Given the description of an element on the screen output the (x, y) to click on. 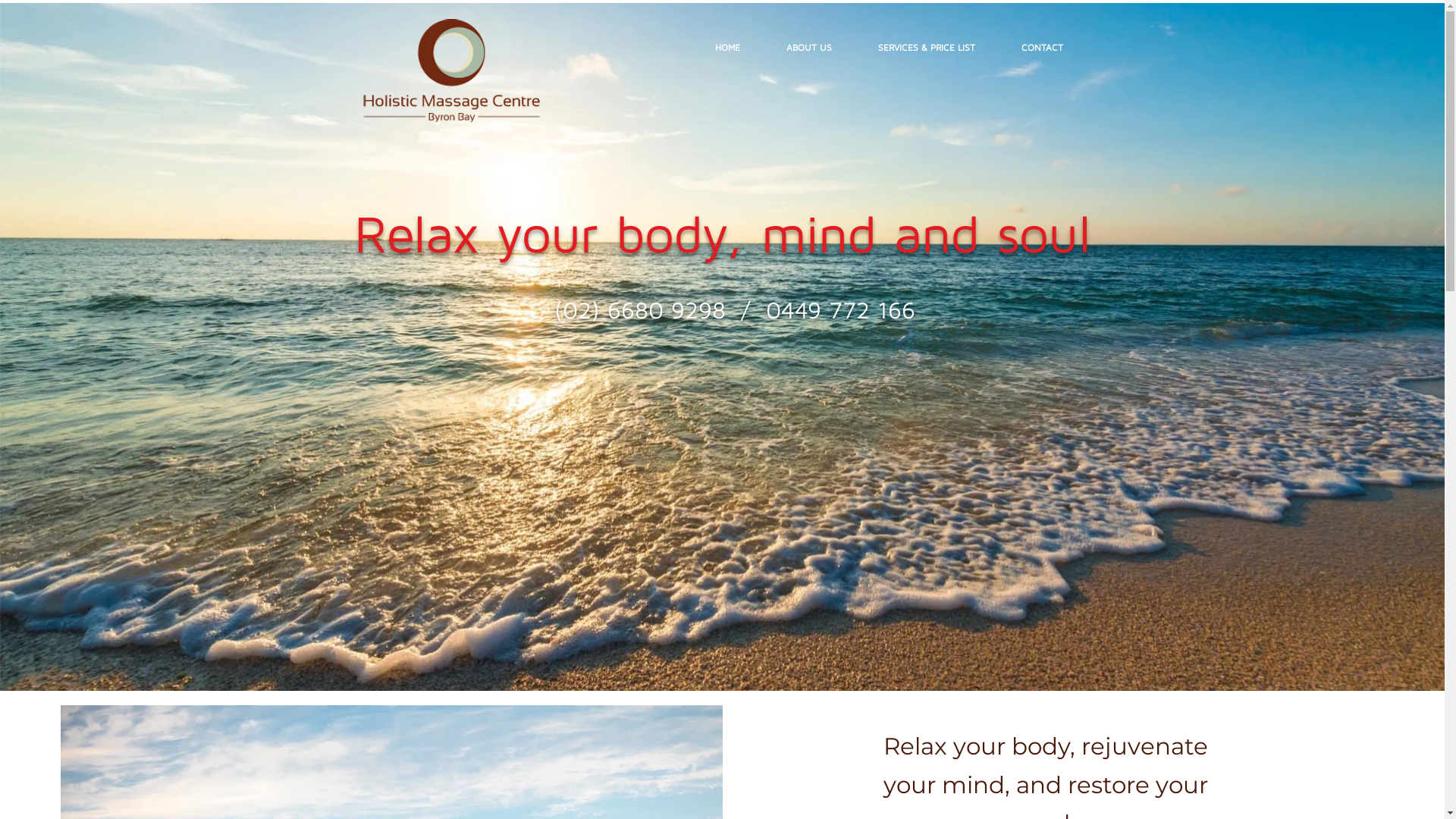
HOME Element type: text (726, 47)
SERVICES & PRICE LIST Element type: text (926, 47)
CONTACT Element type: text (1041, 47)
(02) 6680 9298 Element type: text (639, 309)
ABOUT US Element type: text (808, 47)
0449 772 166 Element type: text (840, 309)
